Given the description of an element on the screen output the (x, y) to click on. 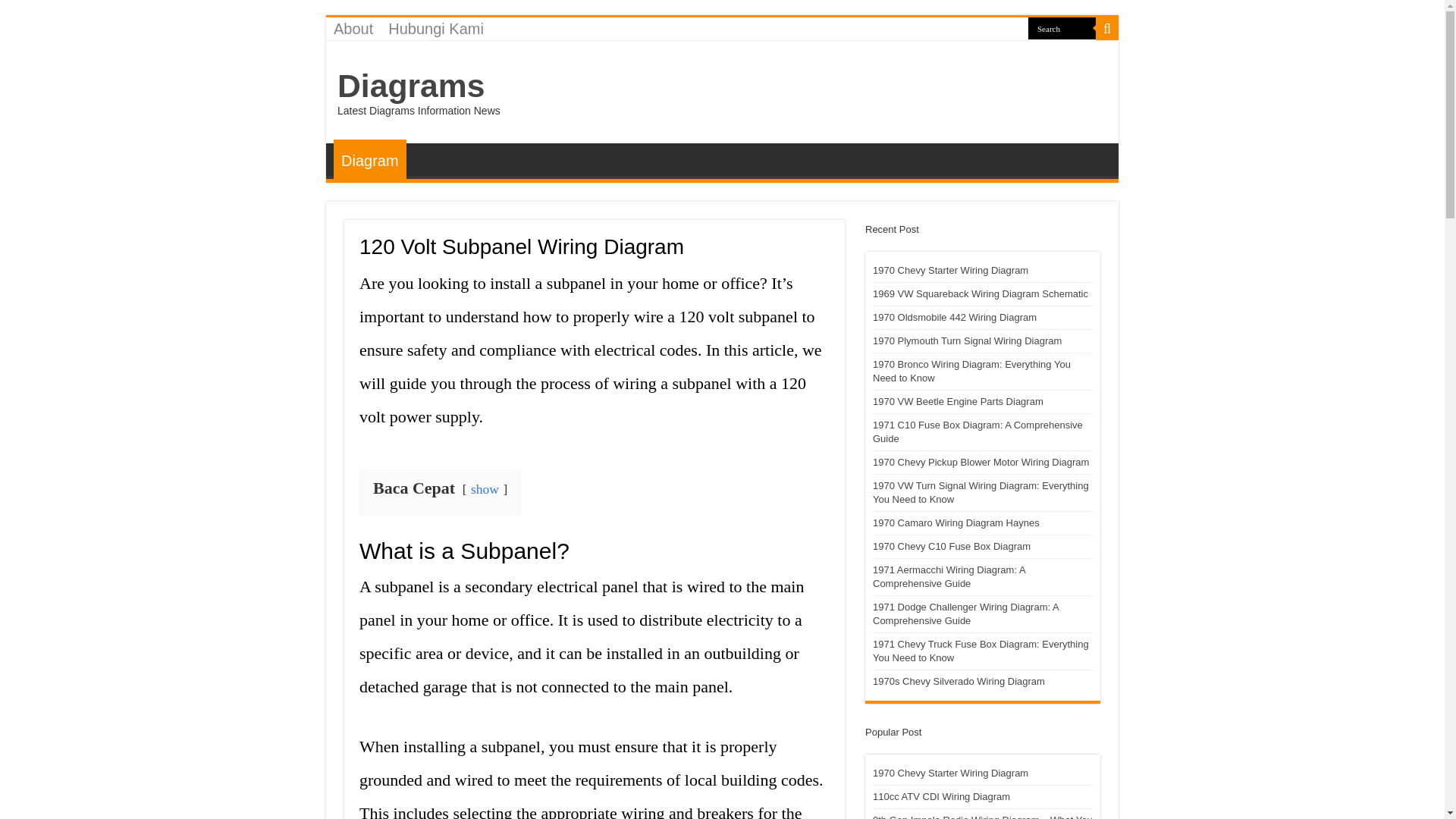
1970s Chevy Silverado Wiring Diagram (958, 681)
1970 Chevy Starter Wiring Diagram (949, 772)
Search (1061, 28)
Diagrams (410, 85)
110cc ATV CDI Wiring Diagram (941, 796)
Search (1061, 28)
1971 Aermacchi Wiring Diagram: A Comprehensive Guide (948, 576)
Hubungi Kami (436, 28)
1971 Dodge Challenger Wiring Diagram: A Comprehensive Guide (965, 613)
show (484, 488)
1970 Oldsmobile 442 Wiring Diagram (954, 317)
1970 VW Beetle Engine Parts Diagram (957, 401)
Diagram (369, 159)
1970 Plymouth Turn Signal Wiring Diagram (966, 340)
